Given the description of an element on the screen output the (x, y) to click on. 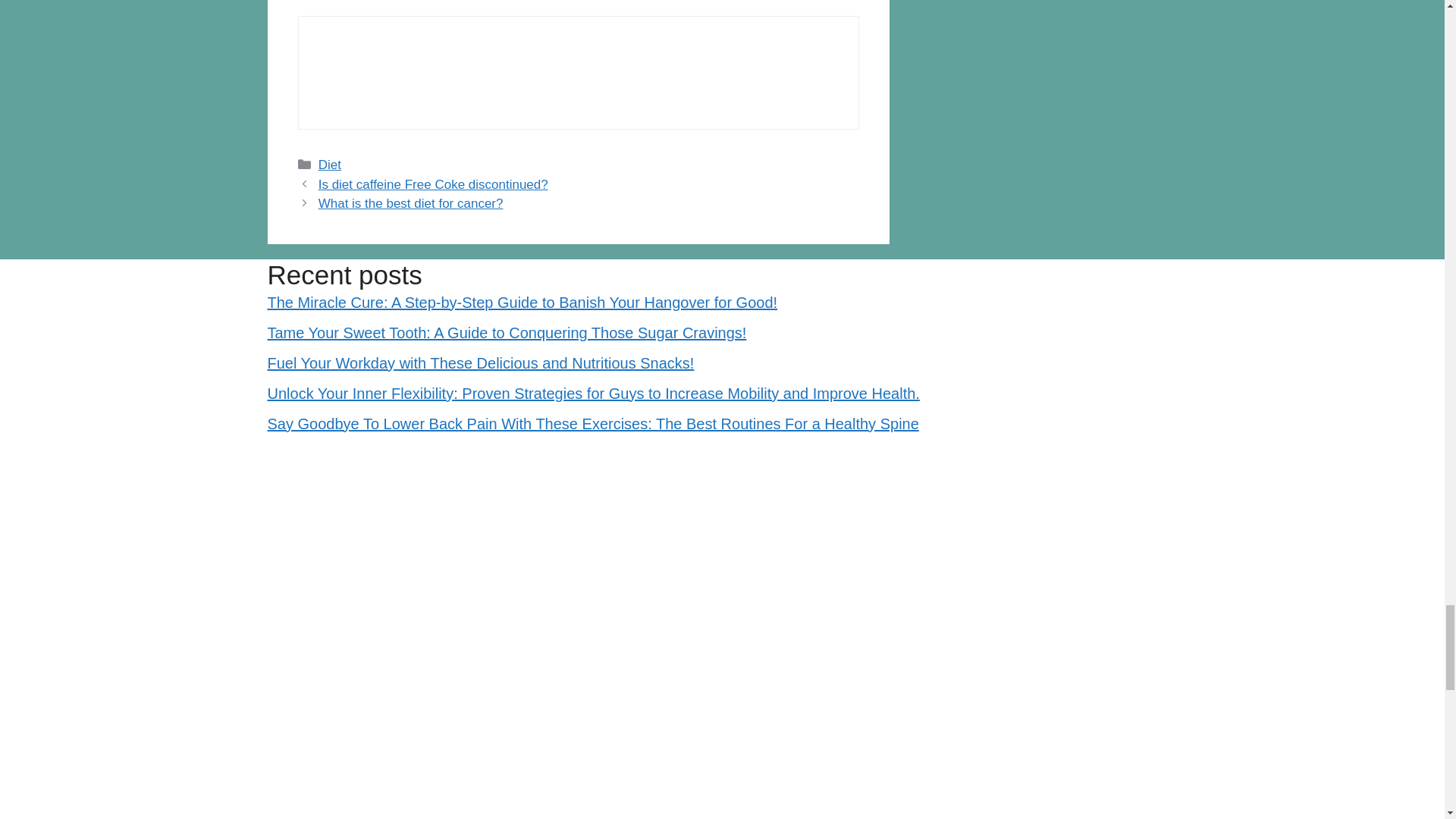
Is diet caffeine Free Coke discontinued? (433, 184)
Diet (329, 164)
What is the best diet for cancer? (410, 203)
